Given the description of an element on the screen output the (x, y) to click on. 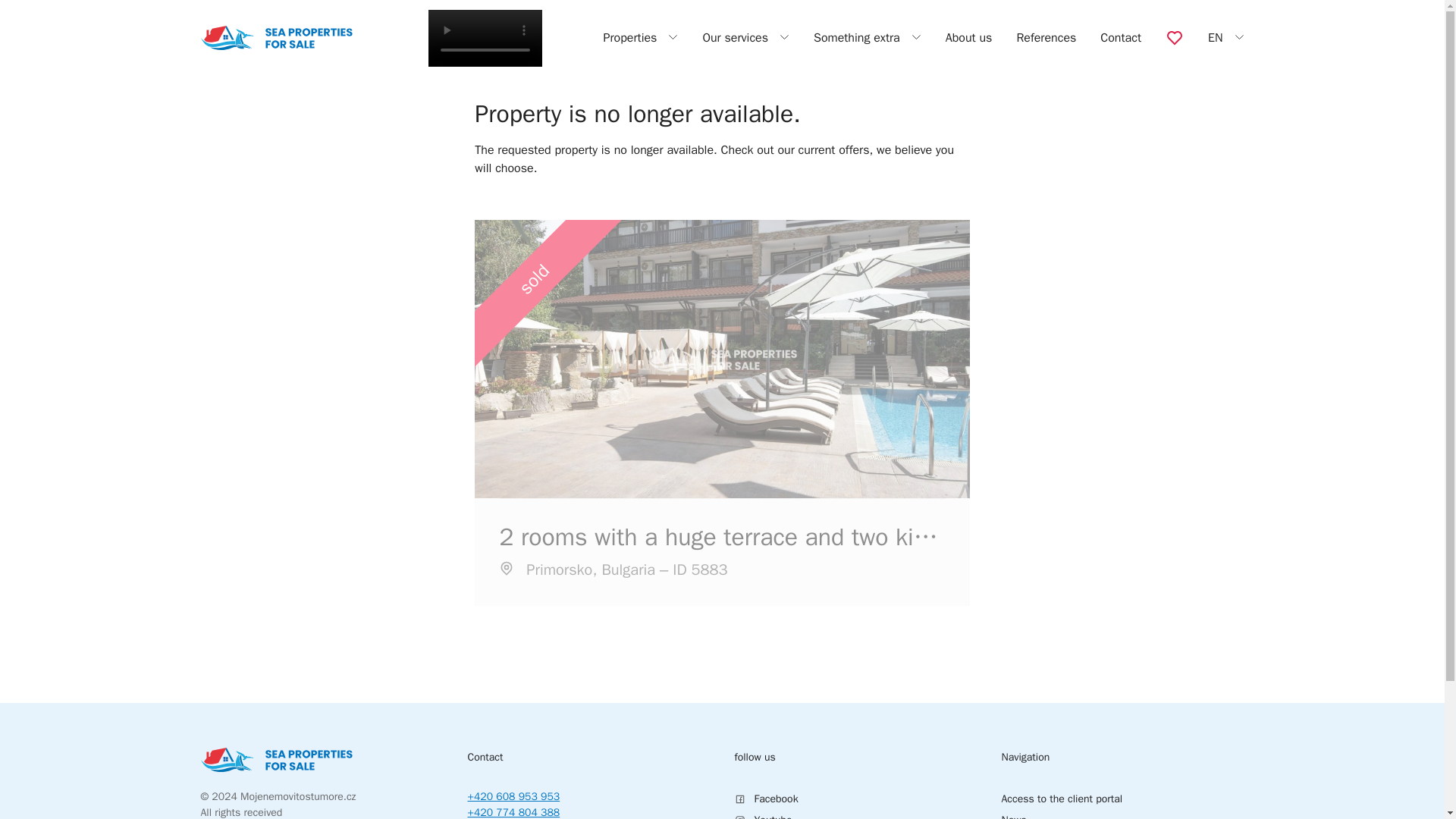
References (1045, 37)
Contact (1120, 37)
Something extra (867, 37)
EN (1226, 37)
About us (968, 37)
Properties (640, 37)
Our services (745, 37)
